Given the description of an element on the screen output the (x, y) to click on. 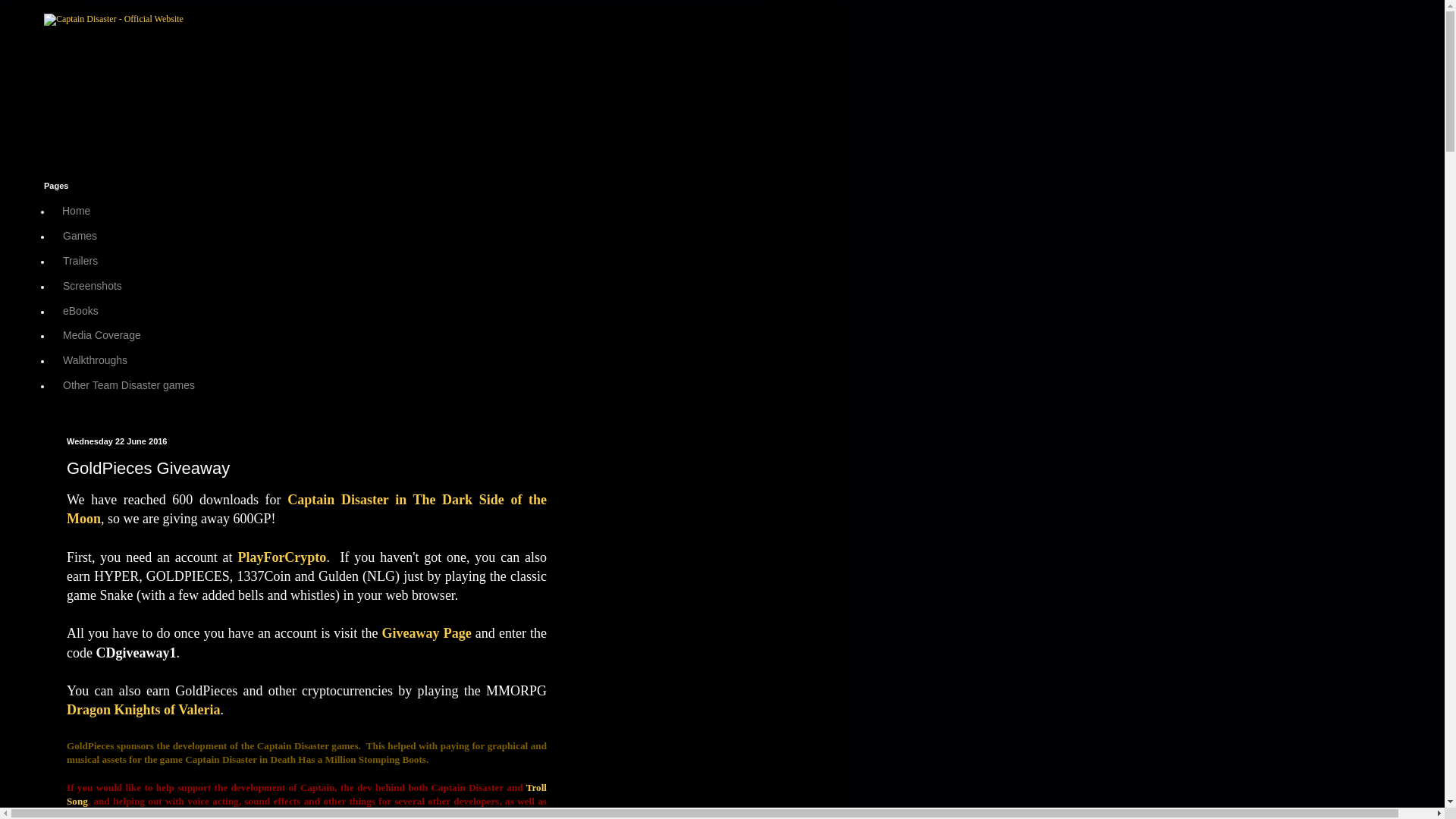
Giveaway Page (426, 632)
Home (75, 211)
Dragon Knights of Valeria (143, 709)
Captain Disaster in The Dark Side of the Moon (306, 509)
eBooks (79, 310)
Patreon campaign (366, 814)
Trailers (78, 260)
Walkthroughs (94, 360)
PlayForCrypto (281, 557)
Games (78, 235)
Troll Song (306, 794)
Other Team Disaster games (127, 384)
Media Coverage (100, 335)
Screenshots (91, 285)
indiegamenews.com (146, 814)
